Given the description of an element on the screen output the (x, y) to click on. 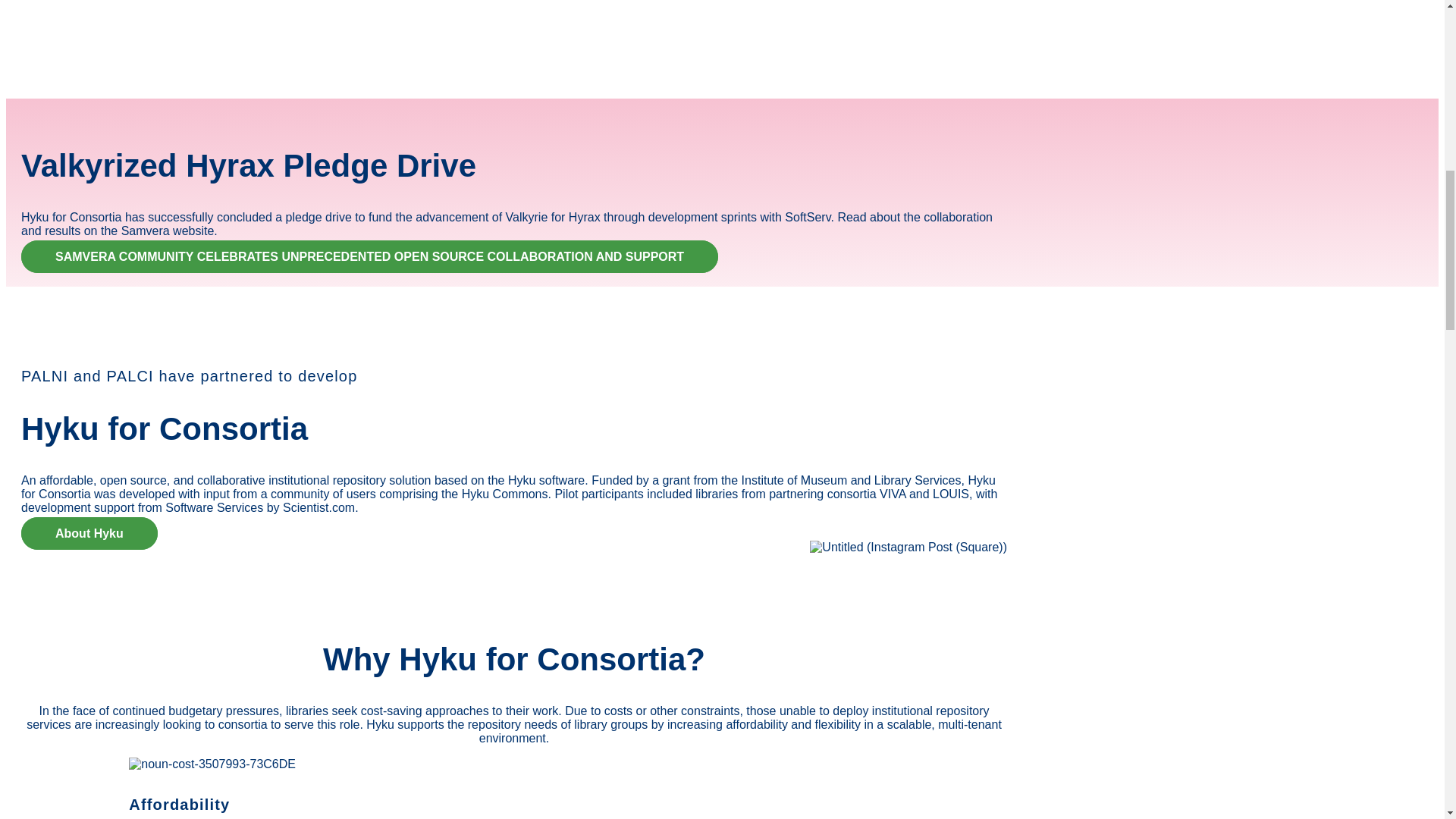
noun-cost-3507993-73C6DE (212, 764)
About Hyku (89, 532)
